Given the description of an element on the screen output the (x, y) to click on. 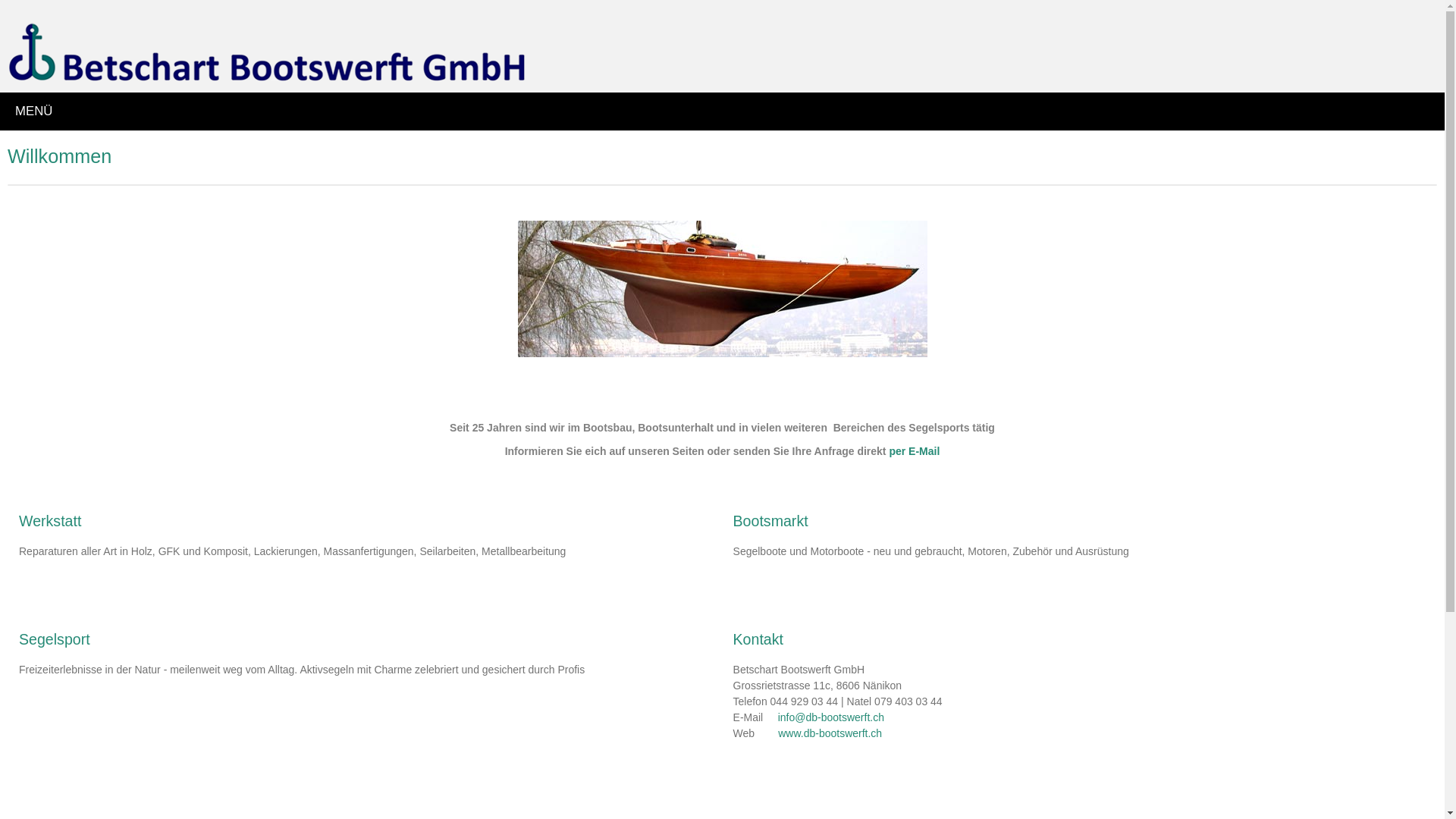
Segelsport Element type: text (54, 638)
info@db-bootswerft.ch Element type: text (831, 717)
61sta.jpg Element type: hover (721, 288)
Bootsmarkt Element type: text (770, 520)
per E-Mail Element type: text (913, 451)
Werkstatt Element type: text (49, 520)
www.db-bootswerft.ch Element type: text (829, 733)
Willkommen Element type: text (59, 155)
Kontakt Element type: text (758, 638)
